Given the description of an element on the screen output the (x, y) to click on. 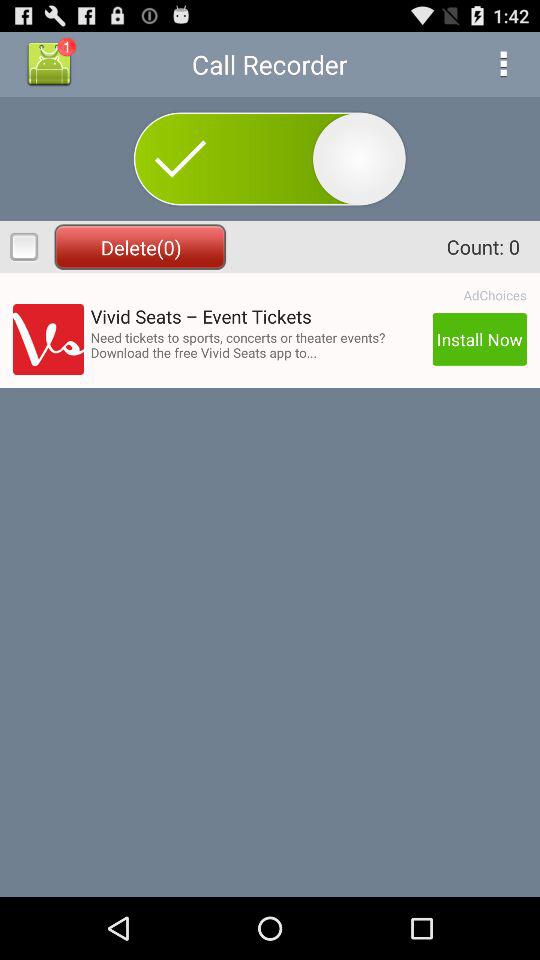
select icon below the call recorder (269, 158)
